Given the description of an element on the screen output the (x, y) to click on. 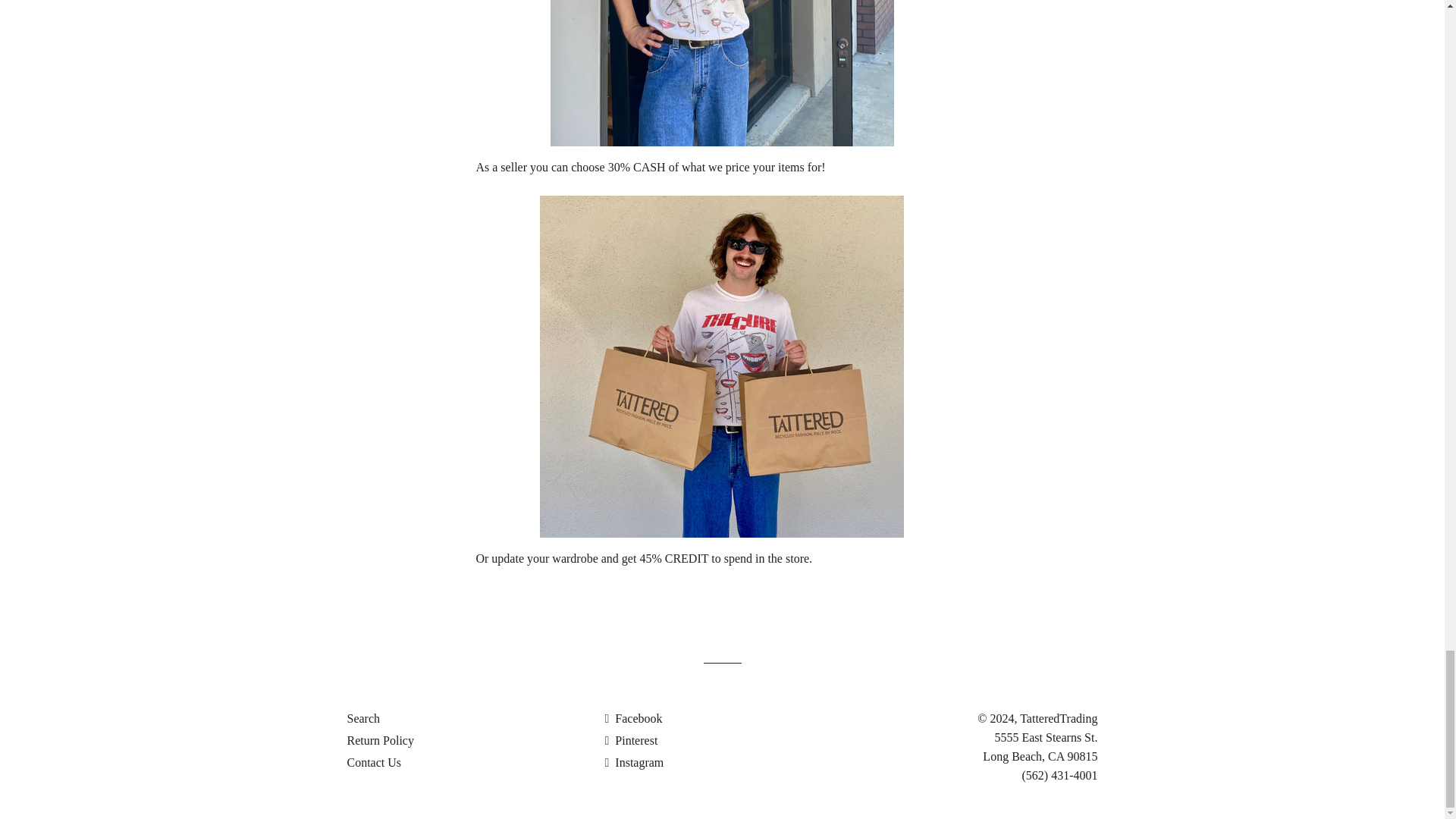
Instagram (633, 762)
TatteredTrading on Instagram (633, 762)
Search (363, 717)
Facebook (633, 717)
Pinterest (631, 739)
TatteredTrading on Pinterest (631, 739)
TatteredTrading (1058, 717)
TatteredTrading on Facebook (633, 717)
Return Policy (380, 739)
Contact Us (374, 762)
